Given the description of an element on the screen output the (x, y) to click on. 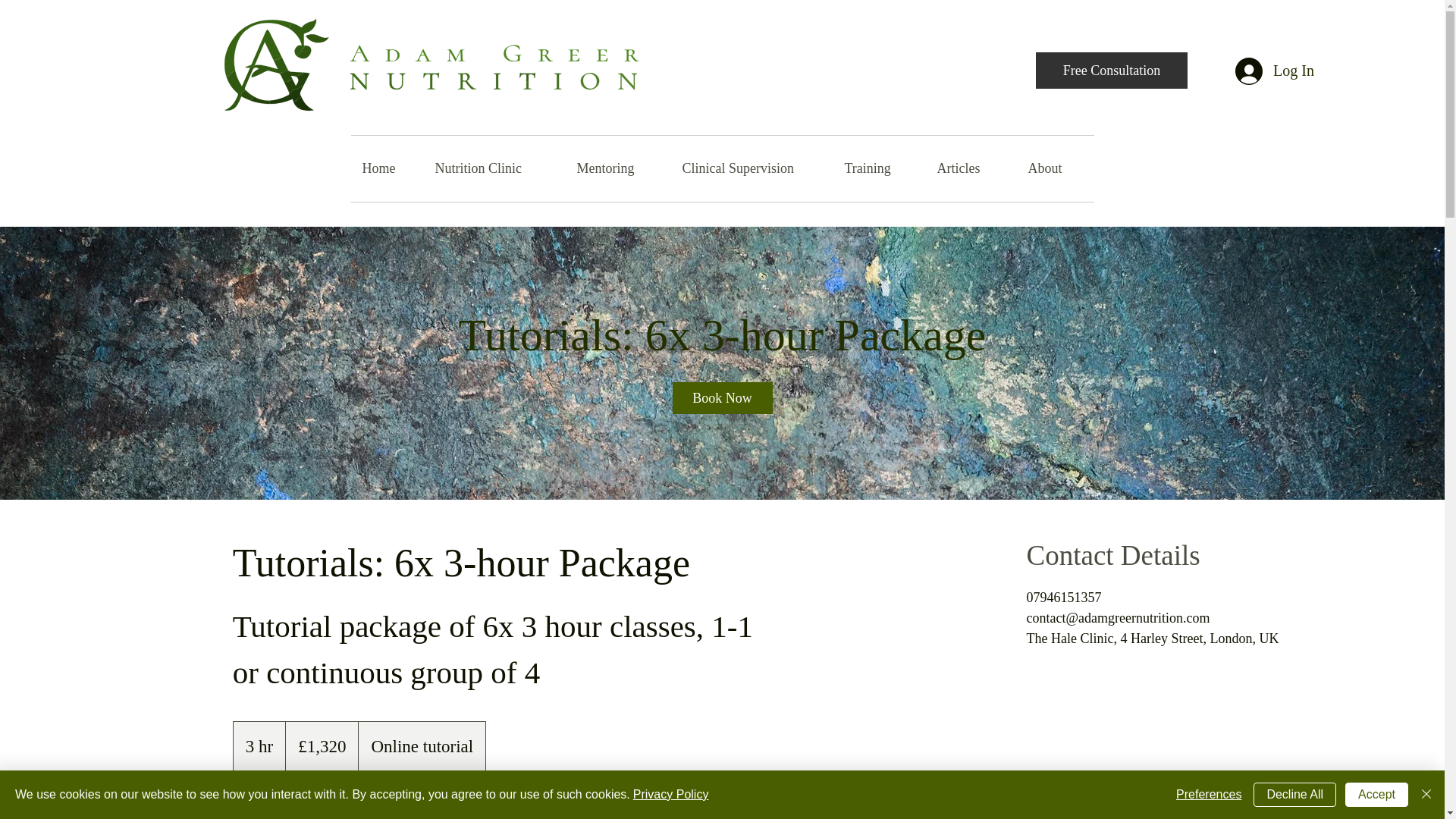
Articles (970, 168)
Log In (1262, 71)
Book Now (282, 807)
Mentoring (618, 168)
Free Consultation (1111, 70)
Clinical Supervision (750, 168)
Training (878, 168)
About (1054, 168)
Nutrition Clinic (493, 168)
Home (386, 168)
